Given the description of an element on the screen output the (x, y) to click on. 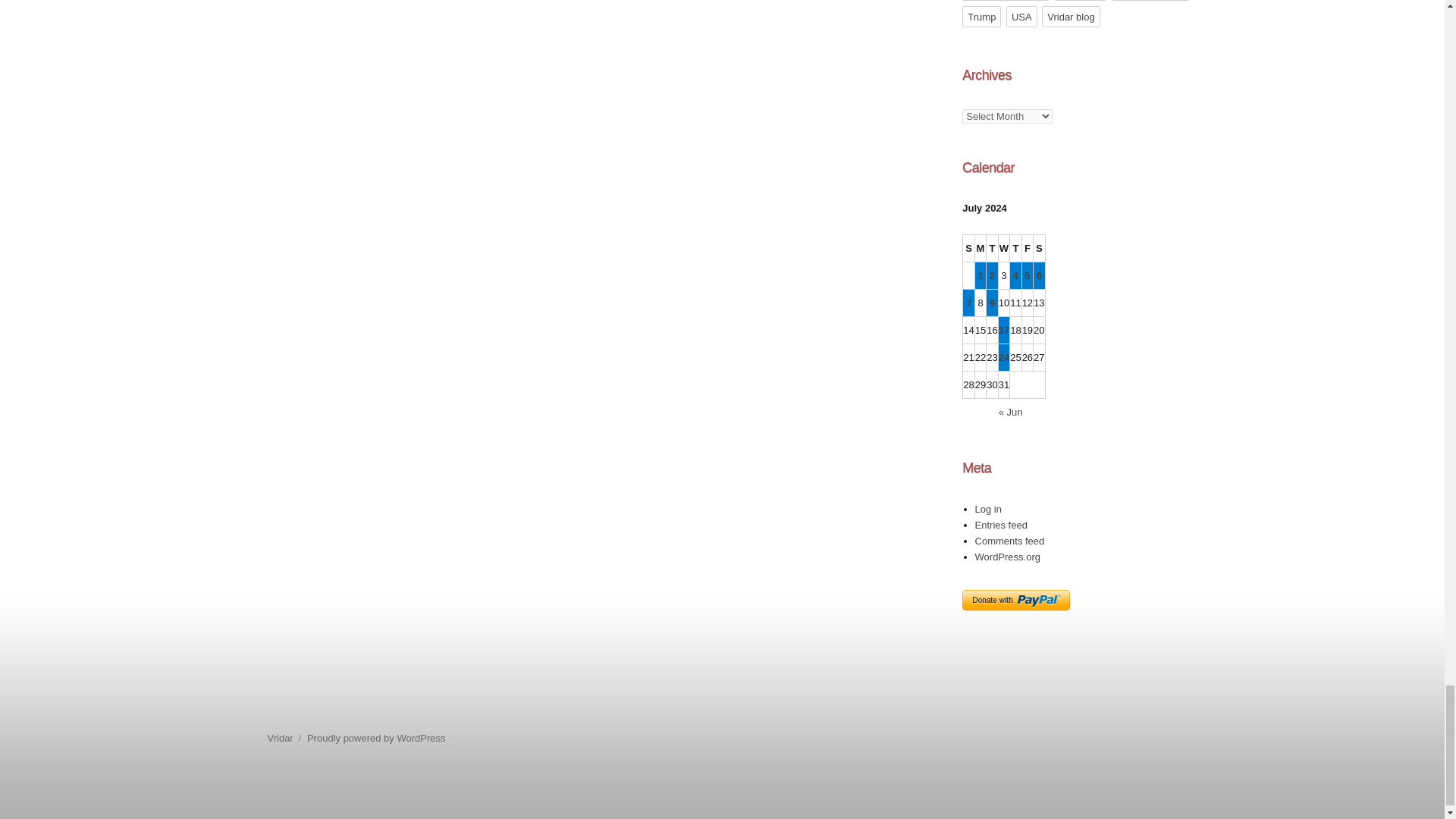
Sunday (968, 248)
Thursday (1016, 248)
Friday (1027, 248)
Wednesday (1004, 248)
Monday (981, 248)
Saturday (1039, 248)
Tuesday (992, 248)
